Given the description of an element on the screen output the (x, y) to click on. 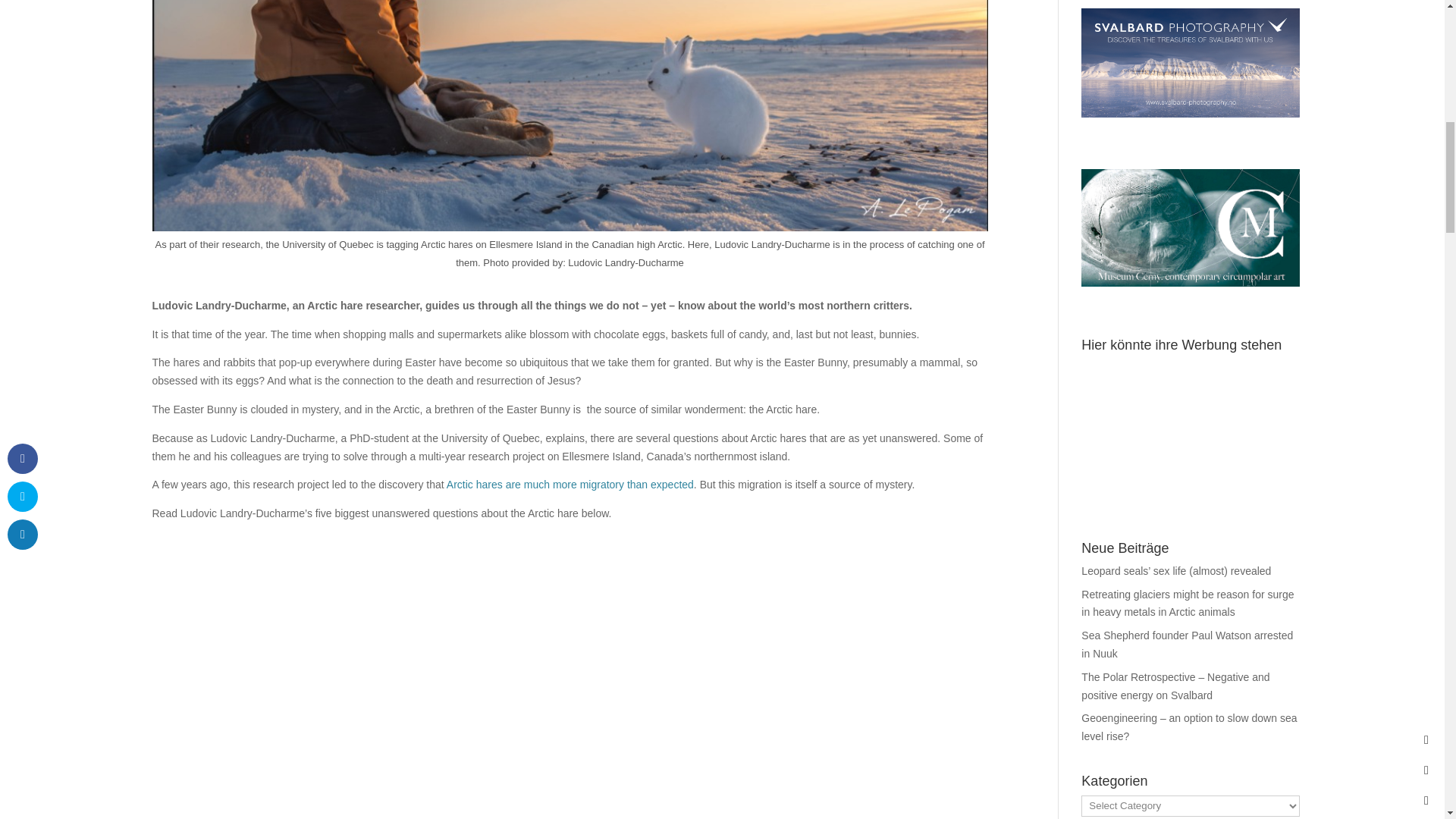
advertisement (1190, 62)
advertisement (1190, 227)
advertisement (1190, 432)
